Given the description of an element on the screen output the (x, y) to click on. 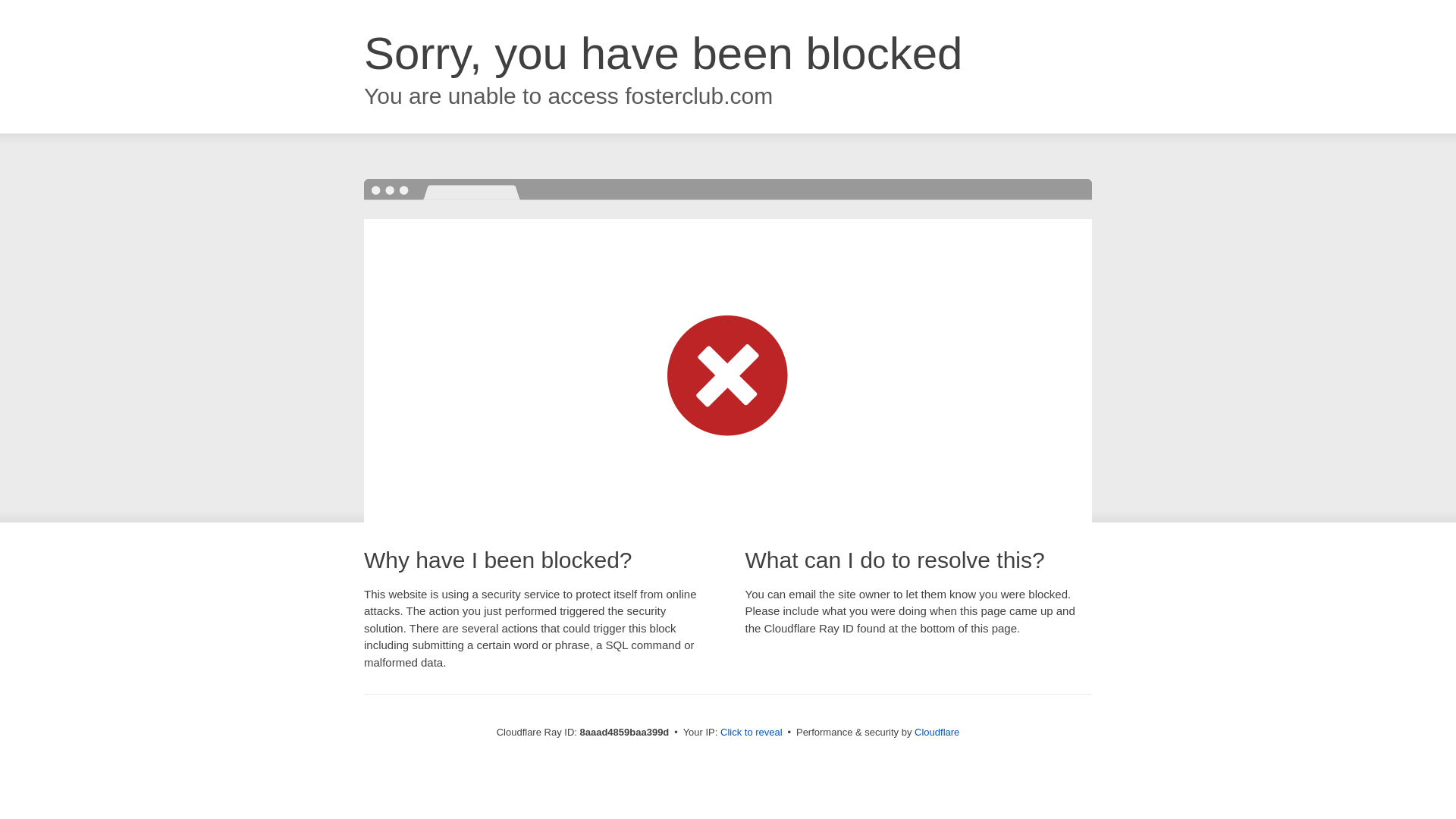
Click to reveal (751, 732)
Cloudflare (936, 731)
